Given the description of an element on the screen output the (x, y) to click on. 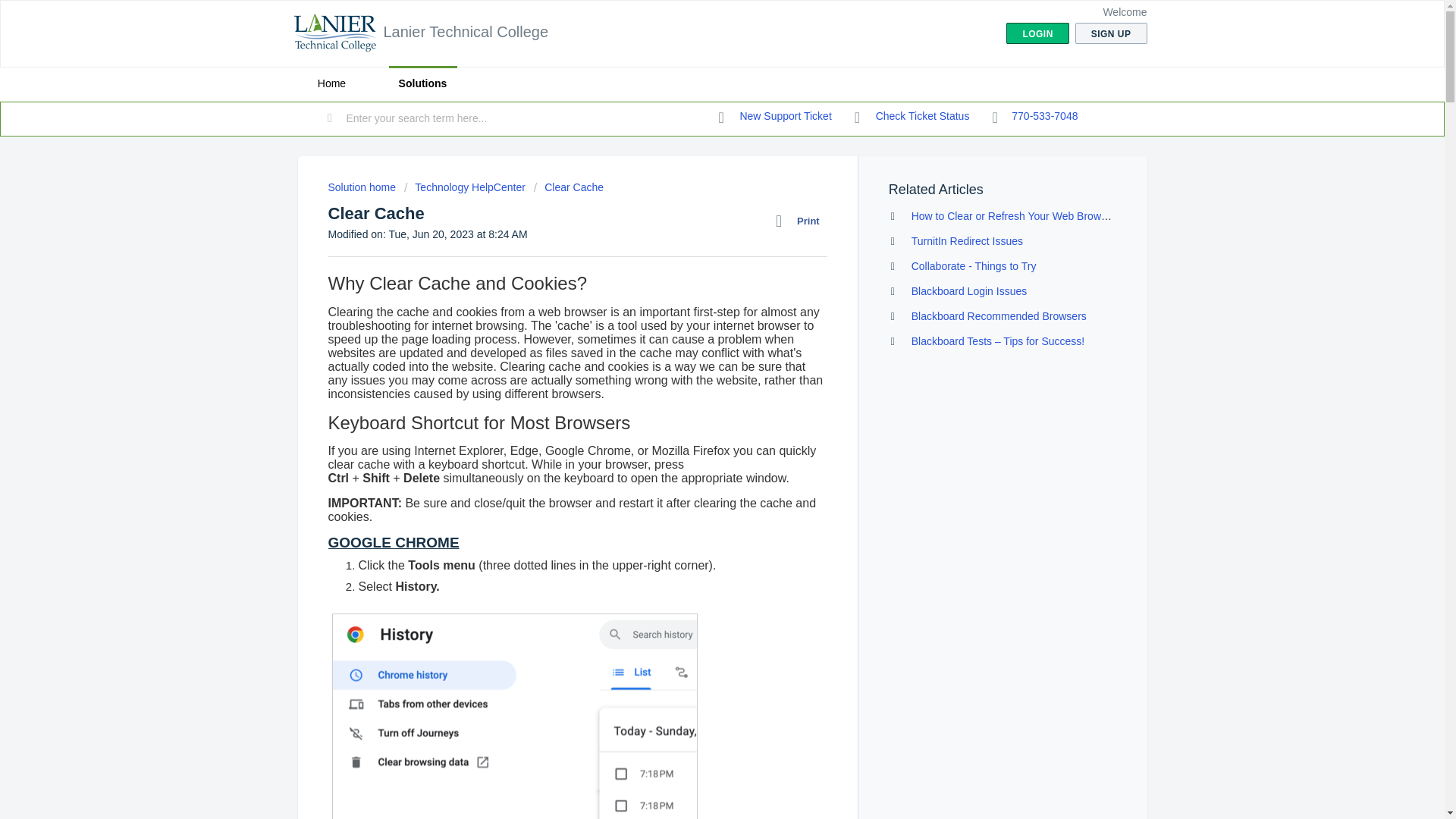
Print (801, 220)
How to Clear or Refresh Your Web Browser Cache (1030, 215)
Print this Article (801, 220)
Blackboard Login Issues (969, 291)
Clear Cache (569, 186)
LOGIN (1037, 33)
Blackboard Recommended Browsers (998, 316)
Home (331, 83)
TurnitIn Redirect Issues (967, 241)
New support ticket (775, 116)
Check ticket status (911, 116)
New Support Ticket (775, 116)
Technology HelpCenter (464, 186)
770-533-7048 (1034, 117)
Solutions (422, 83)
